Given the description of an element on the screen output the (x, y) to click on. 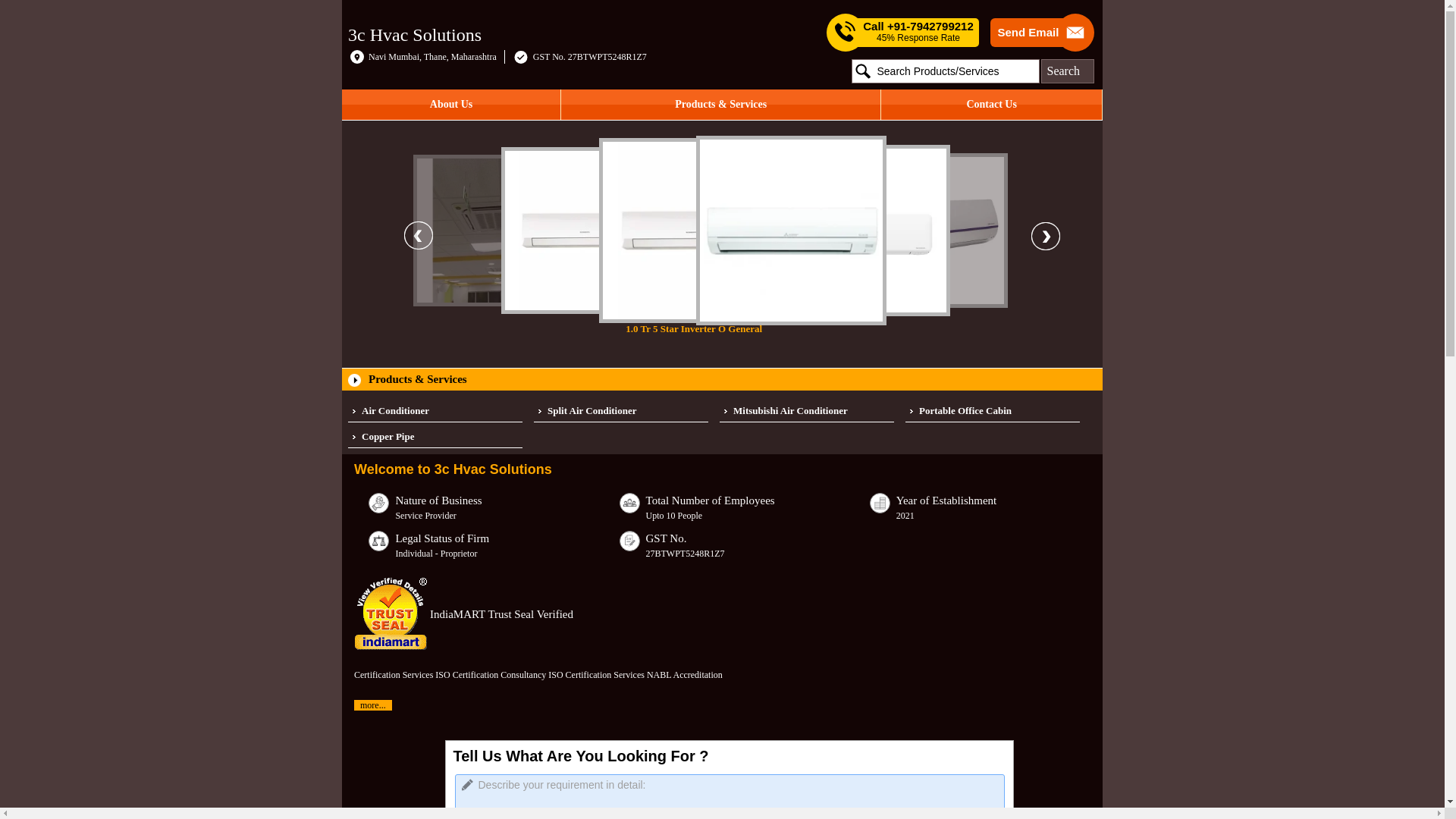
Copper Pipe Element type: text (435, 437)
Portable Office Cabin Element type: text (992, 411)
Search Element type: text (1066, 71)
Call +91-7942799212
45% Response Rate Element type: text (917, 32)
Air Conditioner Element type: text (435, 411)
Split Air Conditioner Element type: text (620, 411)
Products & Services Element type: text (720, 104)
1.0 Tr 5 Star Inverter O General Element type: text (770, 236)
Mitsubishi Air Conditioner Element type: text (806, 411)
Send Email Element type: text (1028, 32)
Contact Us Element type: text (991, 104)
About Us Element type: text (451, 104)
Products & Services Element type: text (417, 379)
more... Element type: text (372, 704)
